Given the description of an element on the screen output the (x, y) to click on. 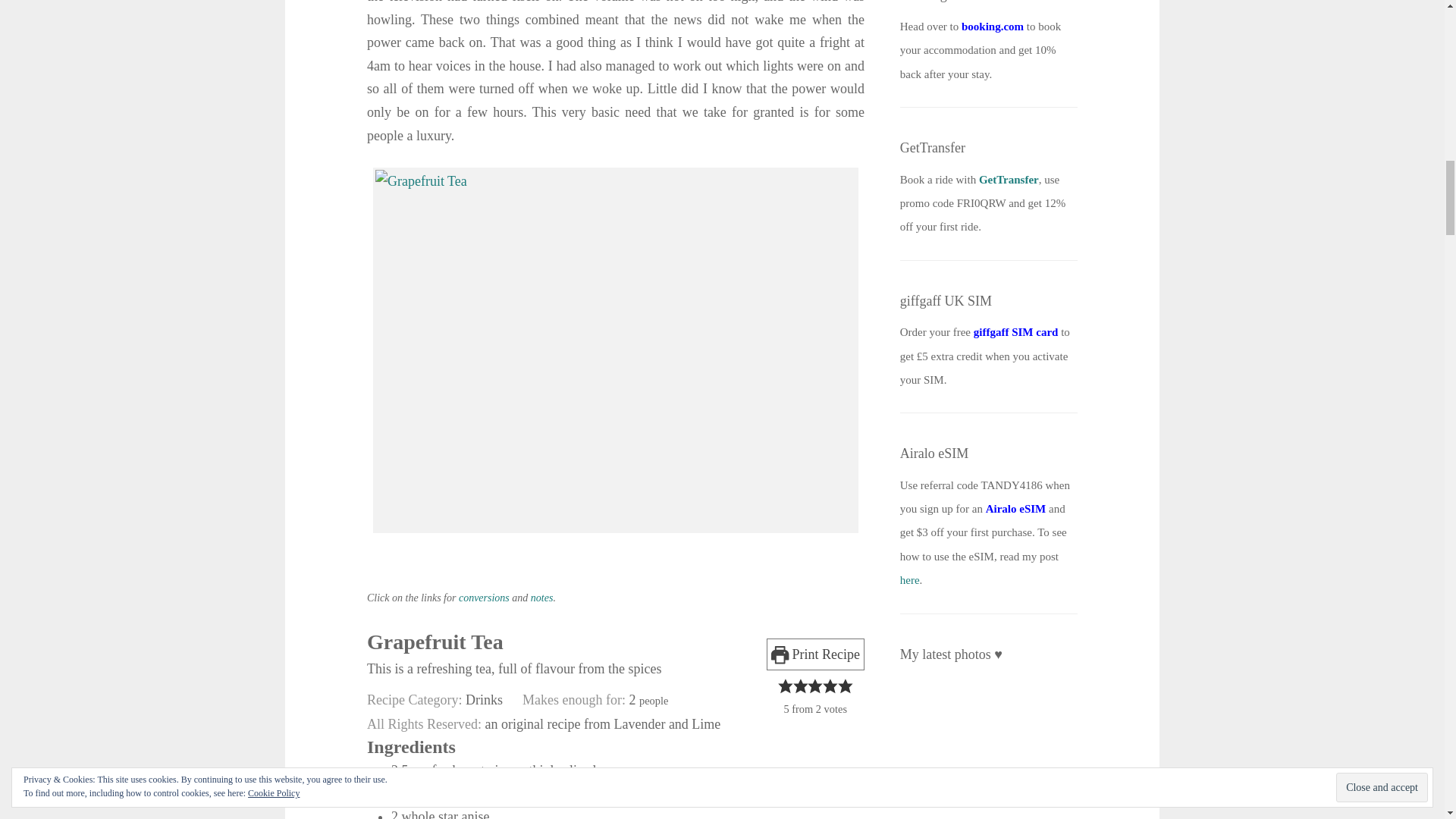
notes (542, 597)
conversions (483, 597)
Print Recipe (815, 654)
